Given the description of an element on the screen output the (x, y) to click on. 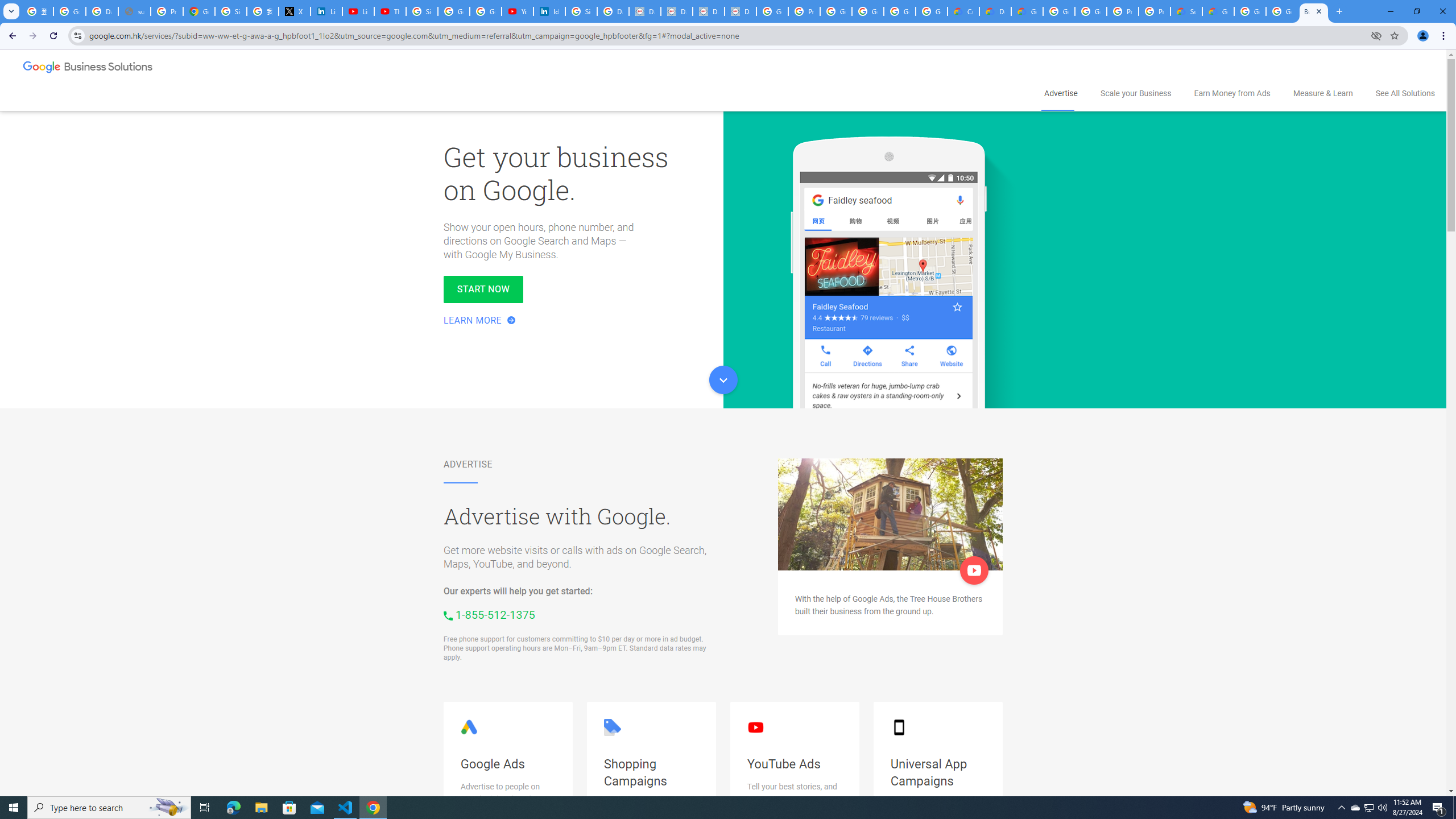
Support Hub | Google Cloud (1185, 11)
Data Privacy Framework (644, 11)
Customer Care | Google Cloud (963, 11)
YouTube logo (755, 727)
Advertise (1060, 93)
Sign in - Google Accounts (421, 11)
